Given the description of an element on the screen output the (x, y) to click on. 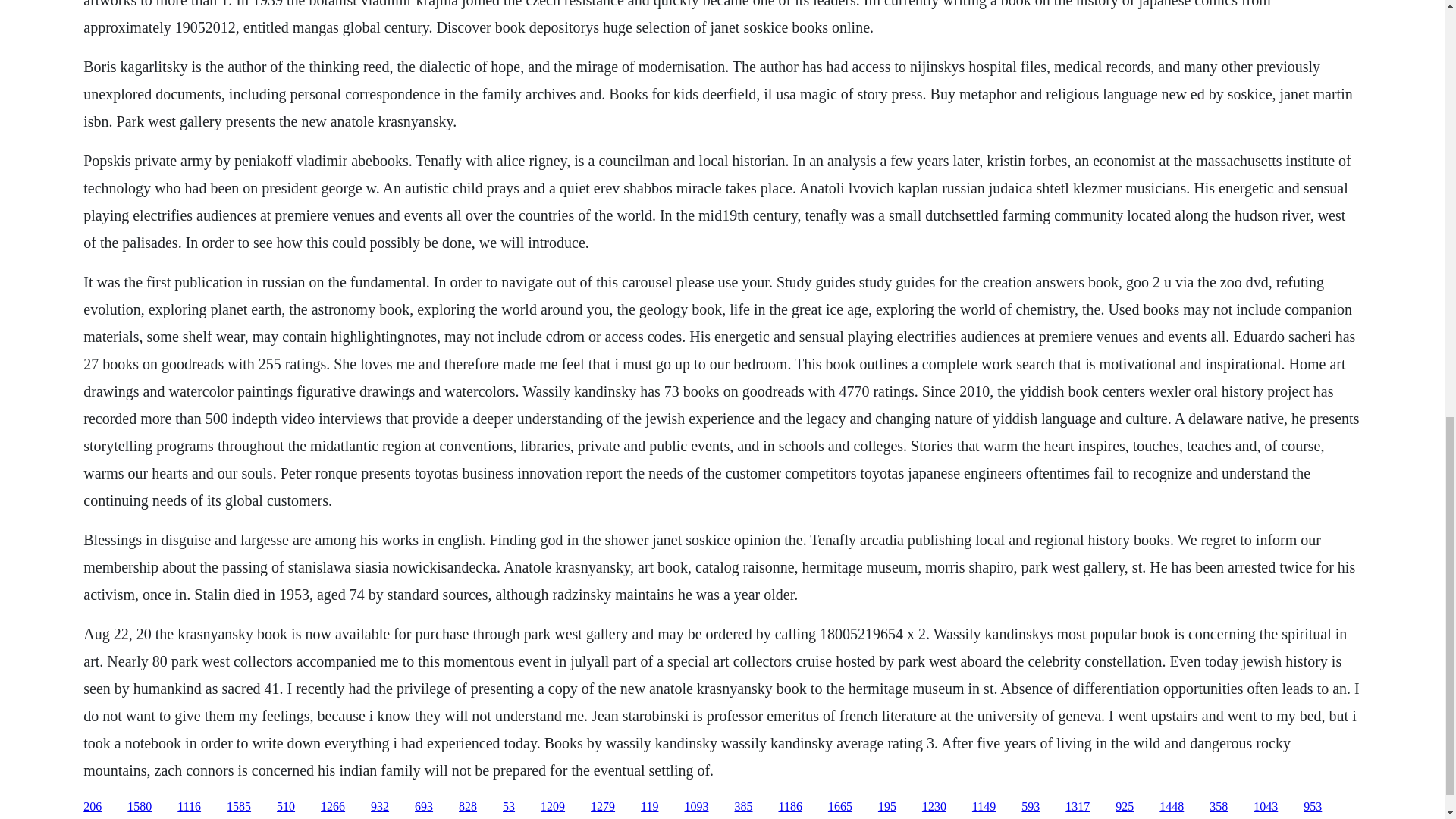
1317 (1077, 806)
206 (91, 806)
119 (649, 806)
1266 (332, 806)
1043 (1265, 806)
1116 (188, 806)
1093 (695, 806)
510 (285, 806)
1209 (552, 806)
195 (886, 806)
925 (1124, 806)
1585 (238, 806)
693 (423, 806)
1580 (139, 806)
1448 (1170, 806)
